Given the description of an element on the screen output the (x, y) to click on. 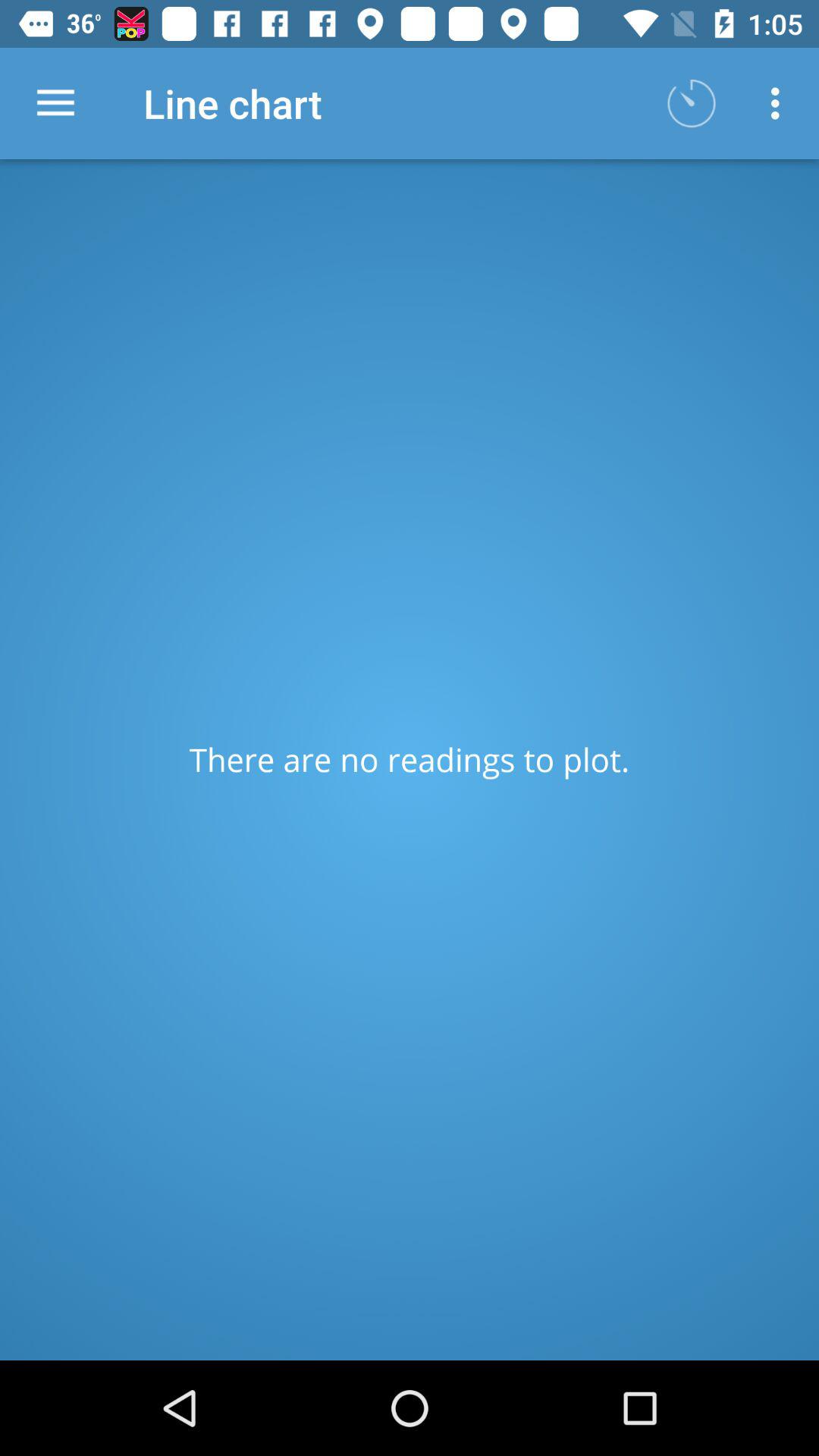
choose icon to the right of line chart icon (691, 103)
